Given the description of an element on the screen output the (x, y) to click on. 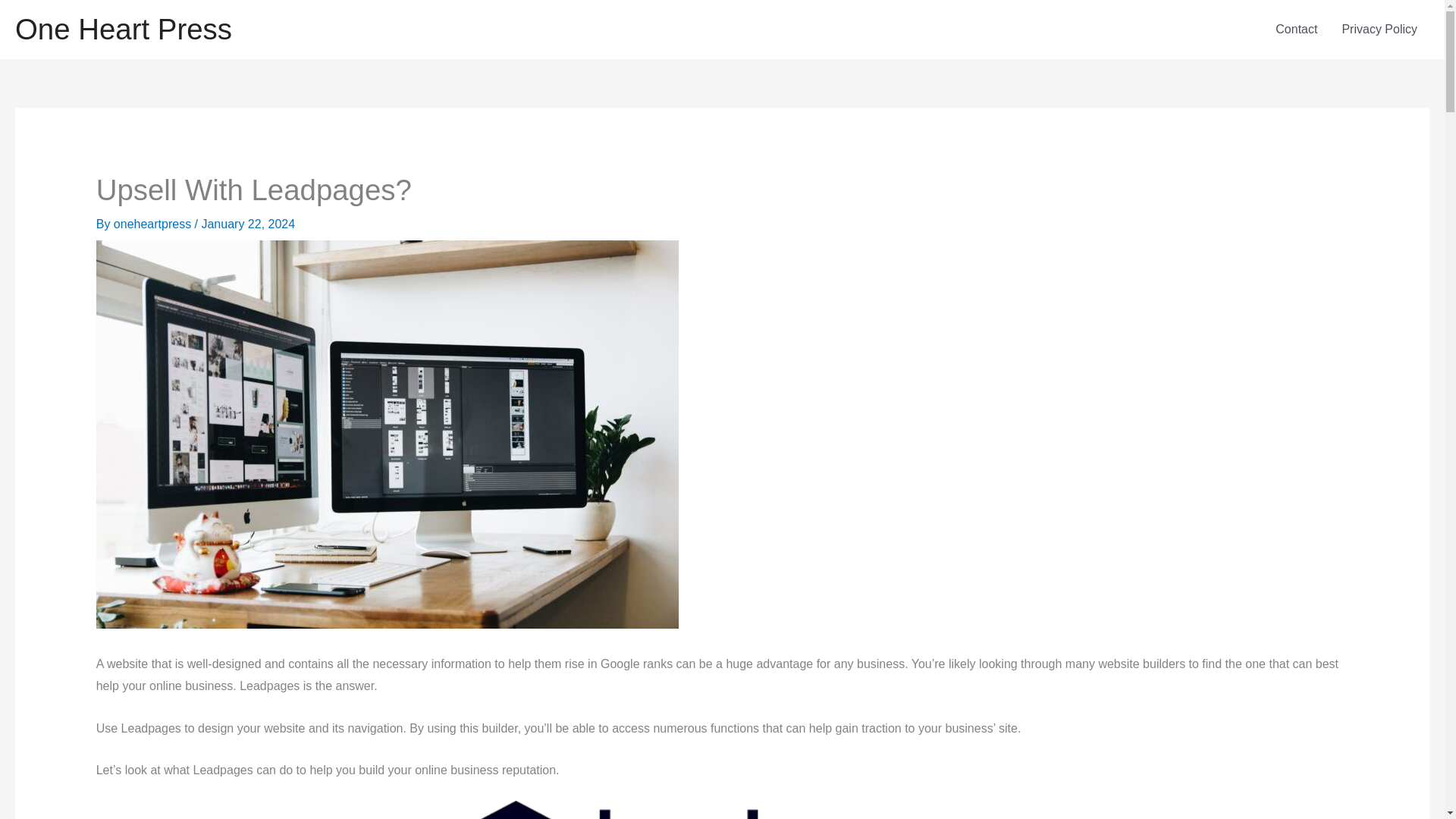
View all posts by oneheartpress (154, 223)
Privacy Policy (1379, 29)
One Heart Press (122, 29)
Contact (1296, 29)
oneheartpress (154, 223)
